Given the description of an element on the screen output the (x, y) to click on. 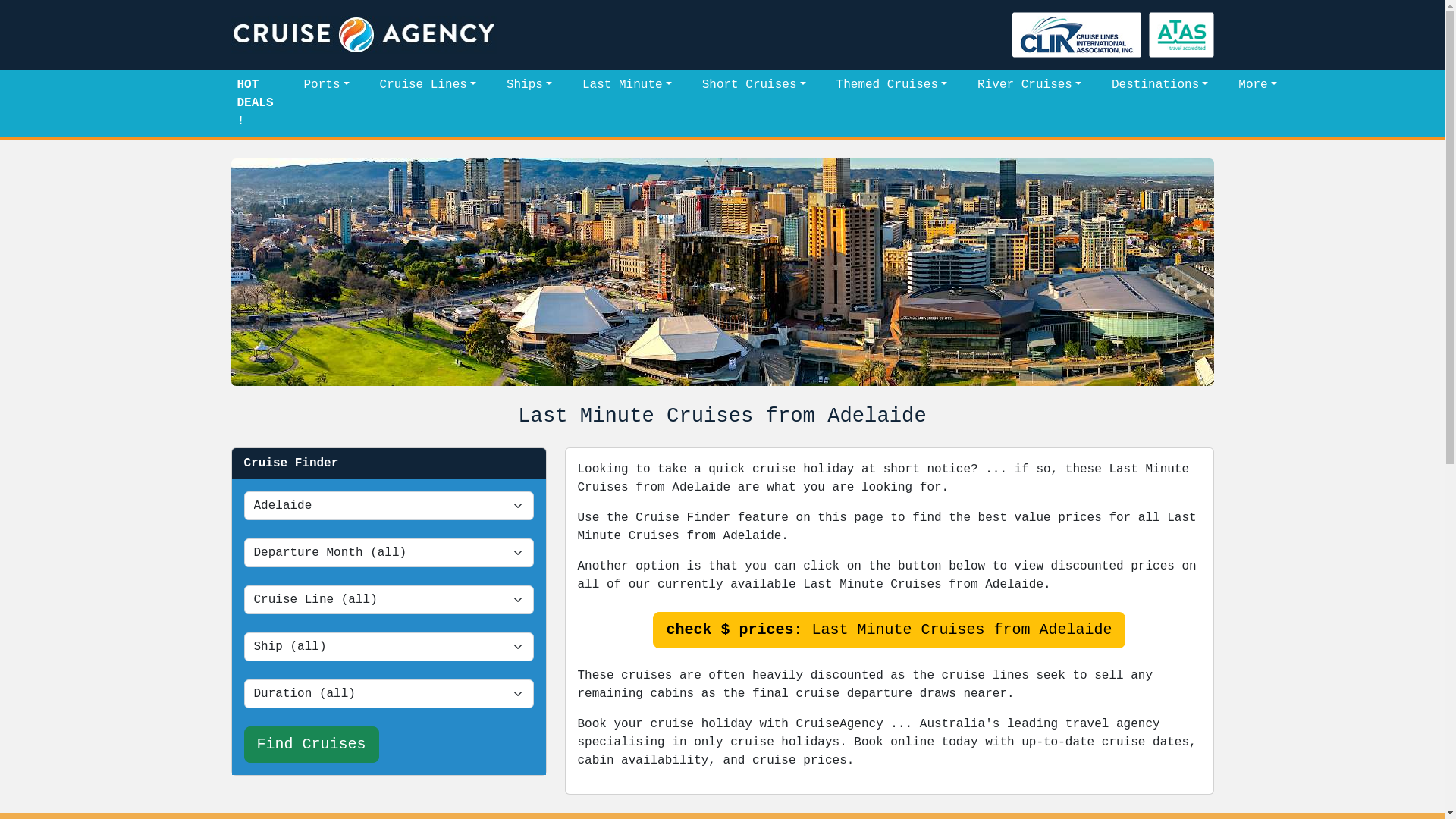
River Cruises Element type: text (1029, 84)
Ports Element type: text (326, 84)
Ships Element type: text (529, 84)
Last Minute Element type: text (626, 84)
Themed Cruises Element type: text (891, 84)
check $ prices: Last Minute Cruises from Adelaide Element type: text (888, 629)
Short Cruises Element type: text (754, 84)
Destinations Element type: text (1159, 84)
HOT DEALS ! Element type: text (254, 102)
Find Cruises Element type: text (311, 744)
More Element type: text (1257, 84)
Cruise Lines Element type: text (427, 84)
